Given the description of an element on the screen output the (x, y) to click on. 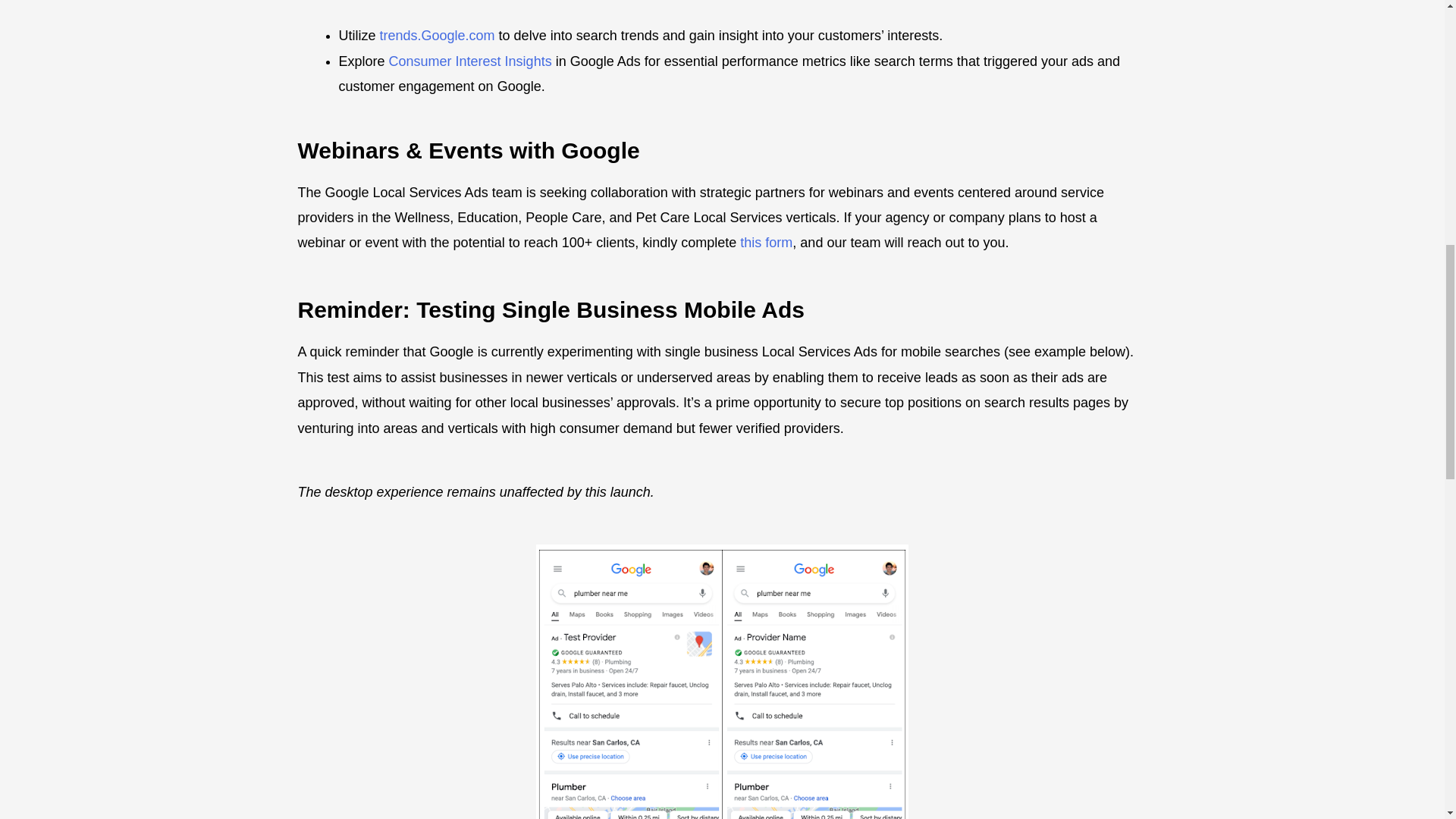
trends.Google.com (437, 35)
this form (765, 242)
Consumer Interest Insights (469, 61)
